Given the description of an element on the screen output the (x, y) to click on. 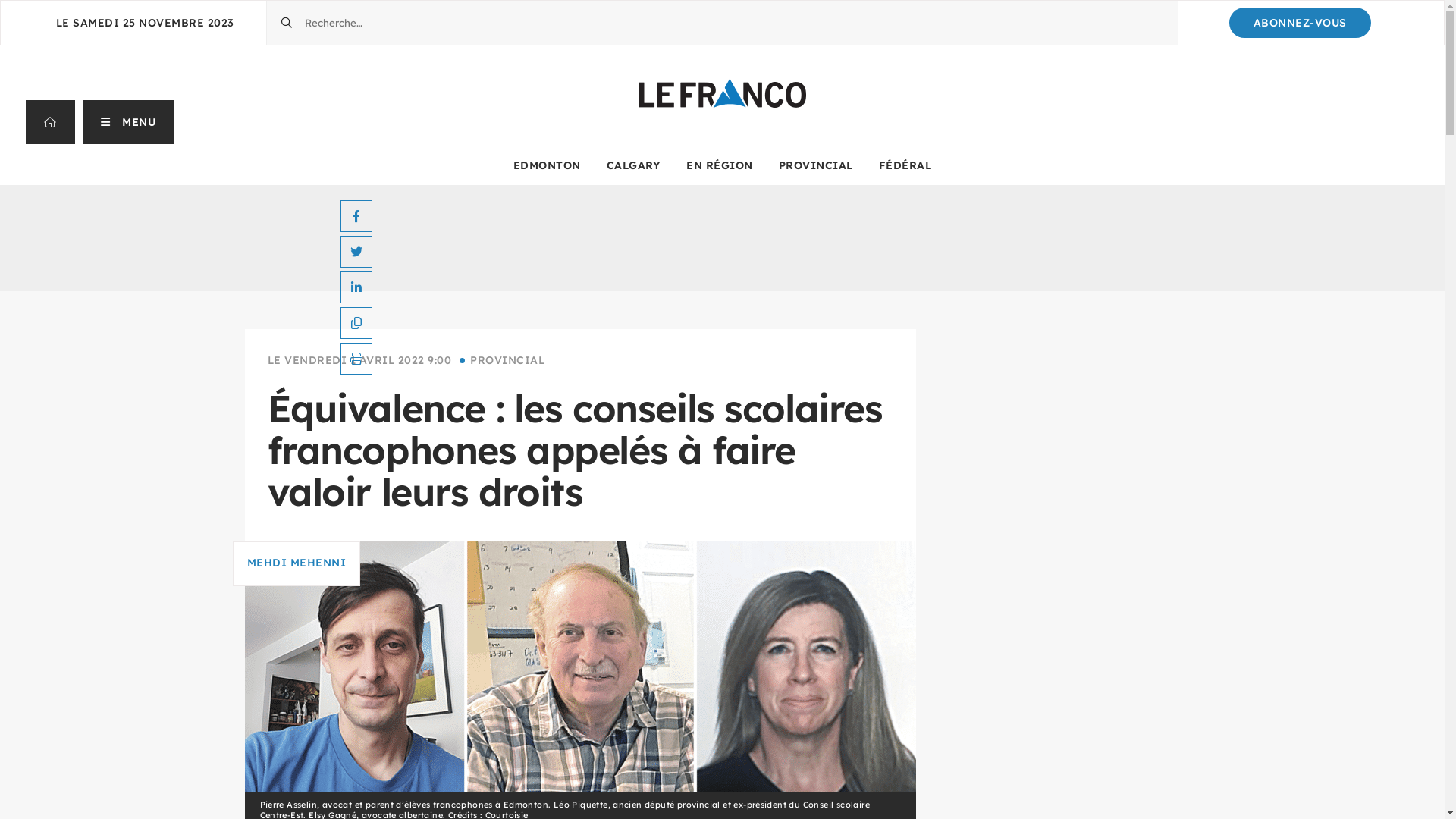
Partager sur Twitter Element type: hover (356, 251)
Partager sur LinkedIn Element type: hover (356, 287)
EDMONTON Element type: text (546, 165)
Copier le lien Element type: hover (356, 322)
Imprimer Element type: hover (356, 358)
Partager sur Facebook Element type: hover (356, 215)
ABONNEZ-VOUS Element type: text (1299, 22)
Rechercher Element type: text (266, 1)
CALGARY Element type: text (633, 165)
PROVINCIAL Element type: text (815, 165)
